Given the description of an element on the screen output the (x, y) to click on. 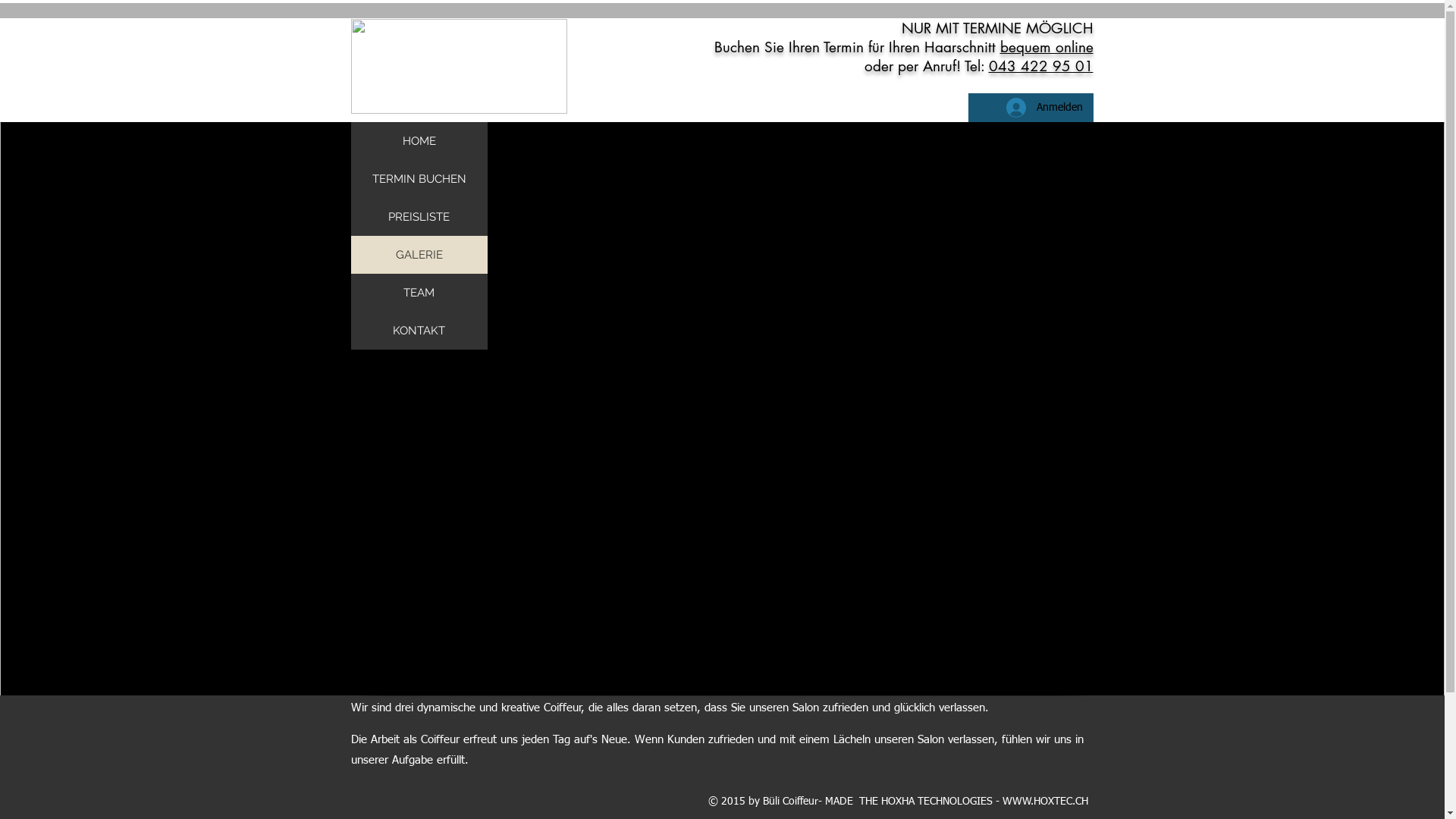
043 422 95 01 Element type: text (1040, 65)
WWW.HOXTEC.CH Element type: text (1045, 801)
TEAM Element type: text (418, 292)
Anmelden Element type: text (1043, 107)
GALERIE Element type: text (418, 254)
TERMIN BUCHEN Element type: text (418, 178)
bequem online Element type: text (1045, 46)
PREISLISTE Element type: text (418, 216)
KONTAKT Element type: text (418, 330)
HOME Element type: text (418, 141)
